Given the description of an element on the screen output the (x, y) to click on. 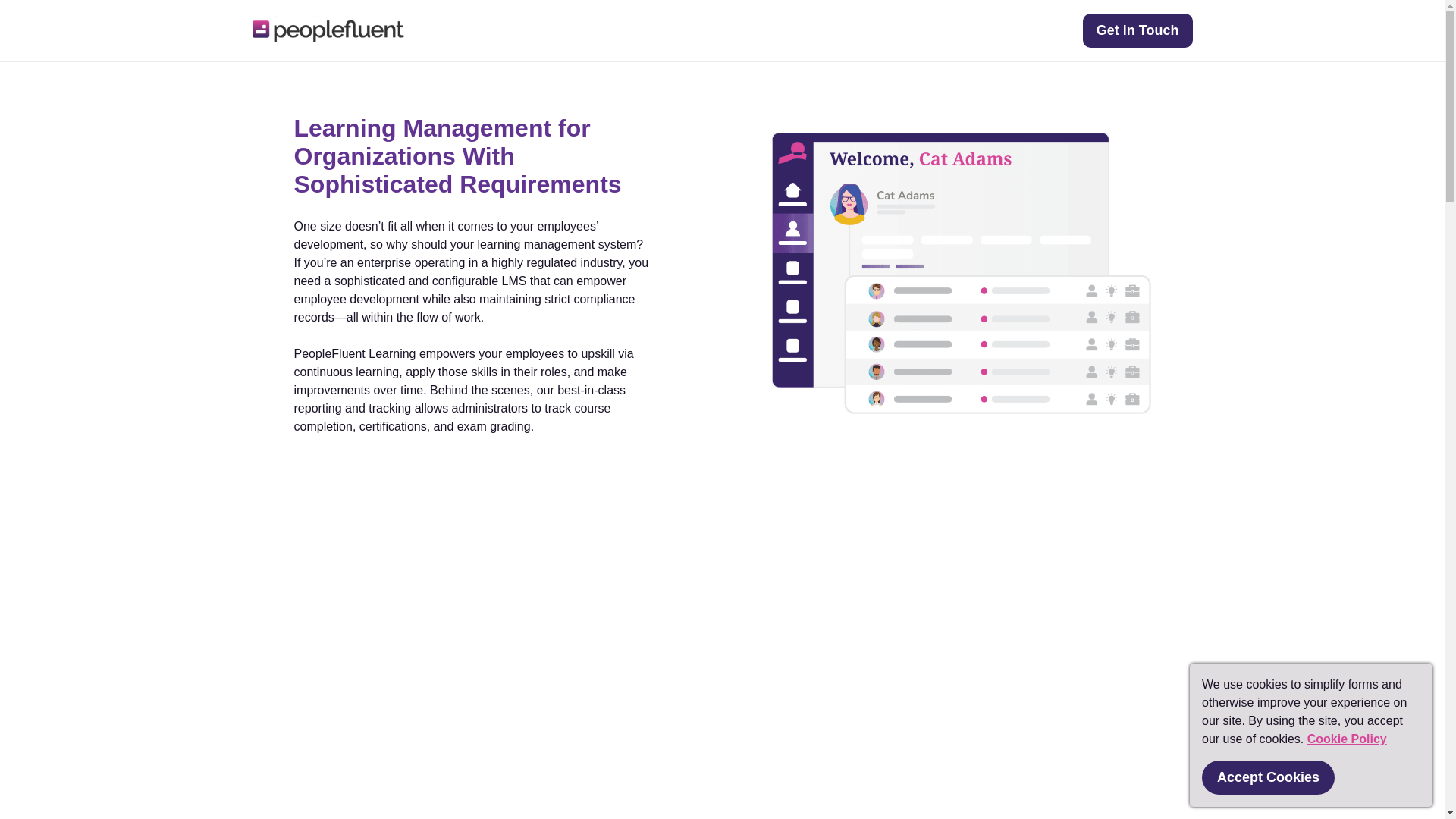
Get in Touch (1137, 30)
Accept Cookies (1268, 777)
Cookie Policy (1347, 738)
